Given the description of an element on the screen output the (x, y) to click on. 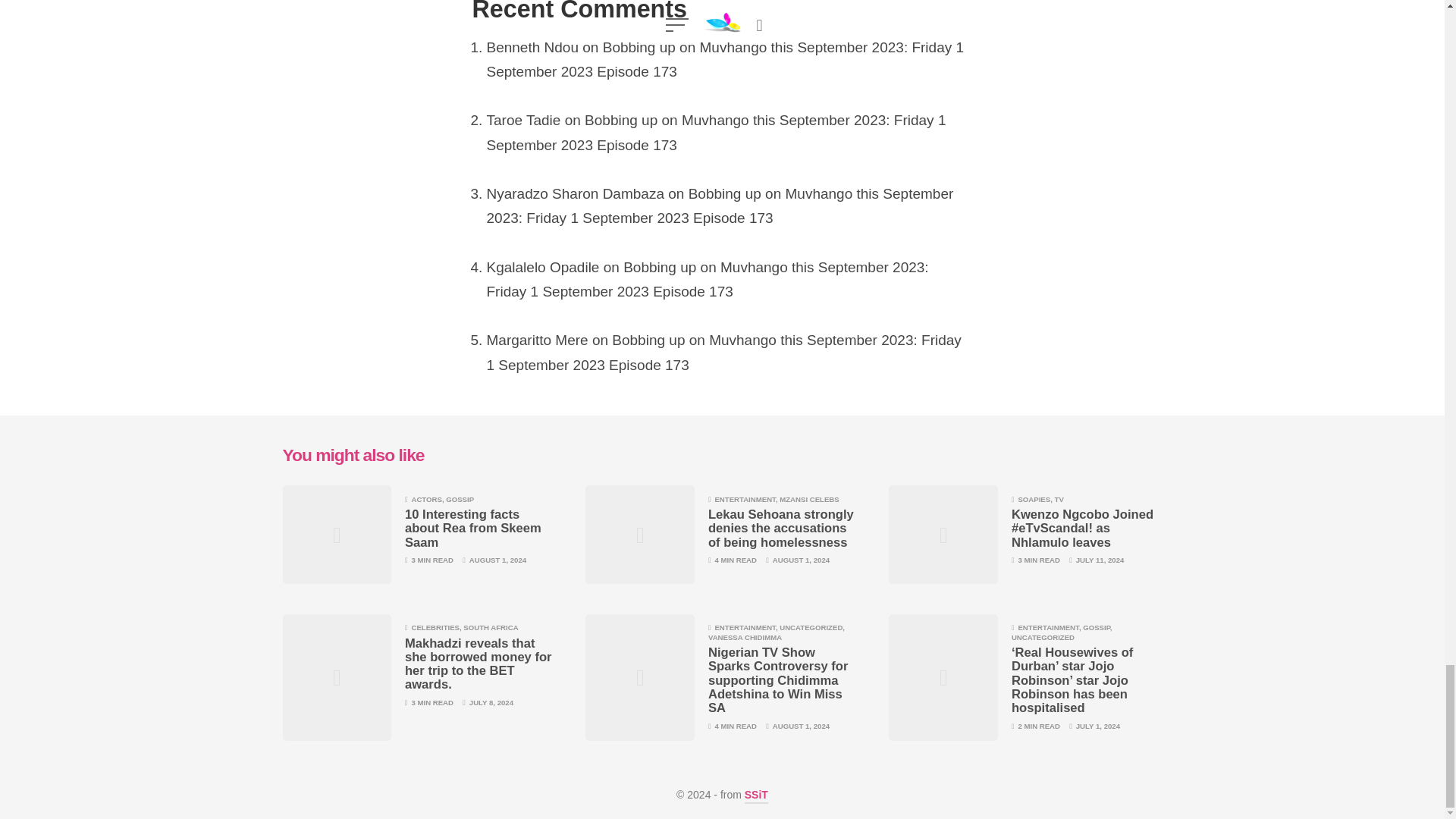
Benneth Ndou (532, 47)
